Given the description of an element on the screen output the (x, y) to click on. 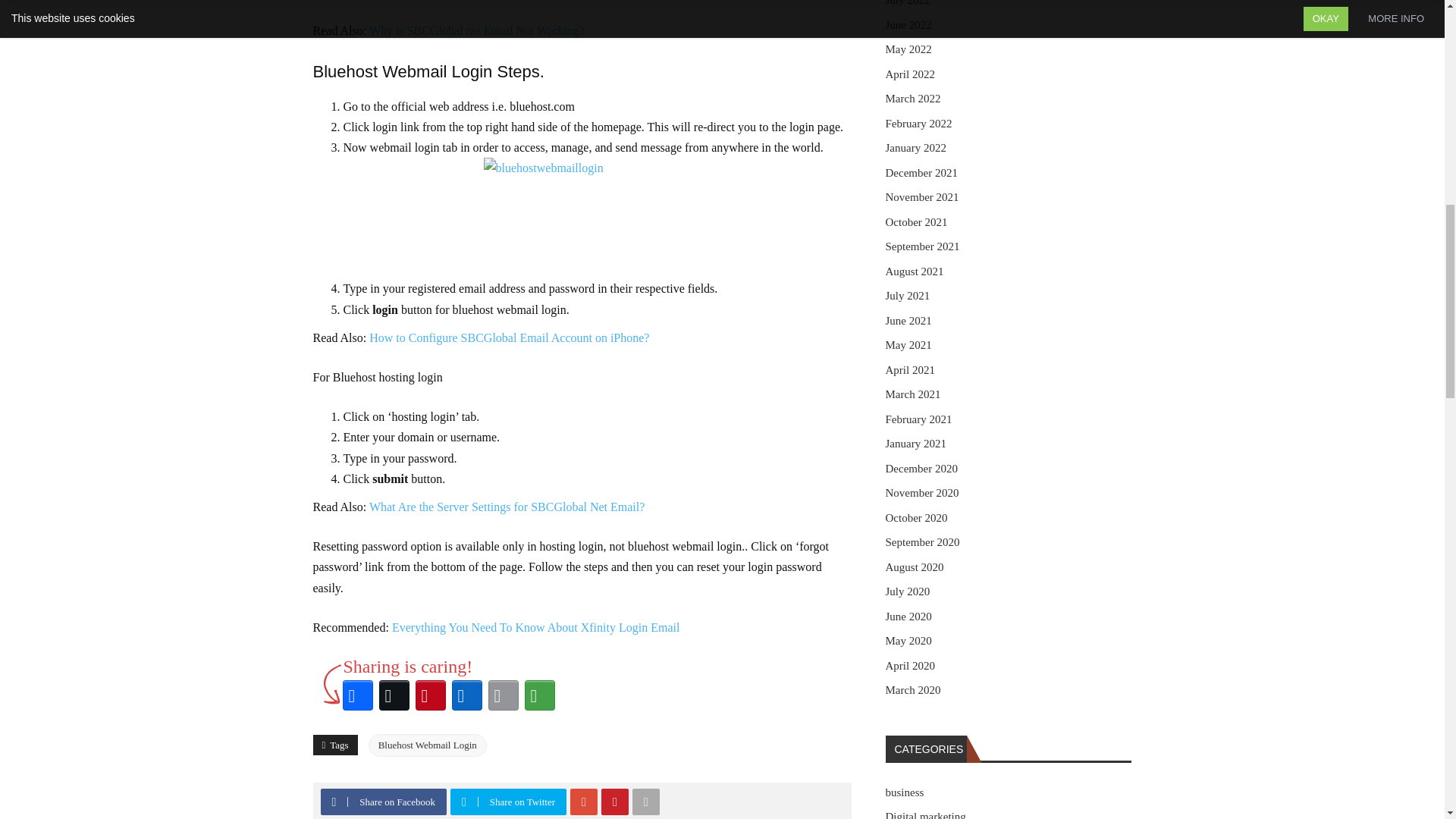
More Options (539, 695)
View all posts tagged Bluehost Webmail Login (427, 744)
LinkedIn (466, 695)
Pinterest (430, 695)
Email This (502, 695)
Google Plus (583, 801)
Twitter (463, 801)
Facebook (357, 695)
Pinterest (614, 801)
Facebook (333, 801)
